Given the description of an element on the screen output the (x, y) to click on. 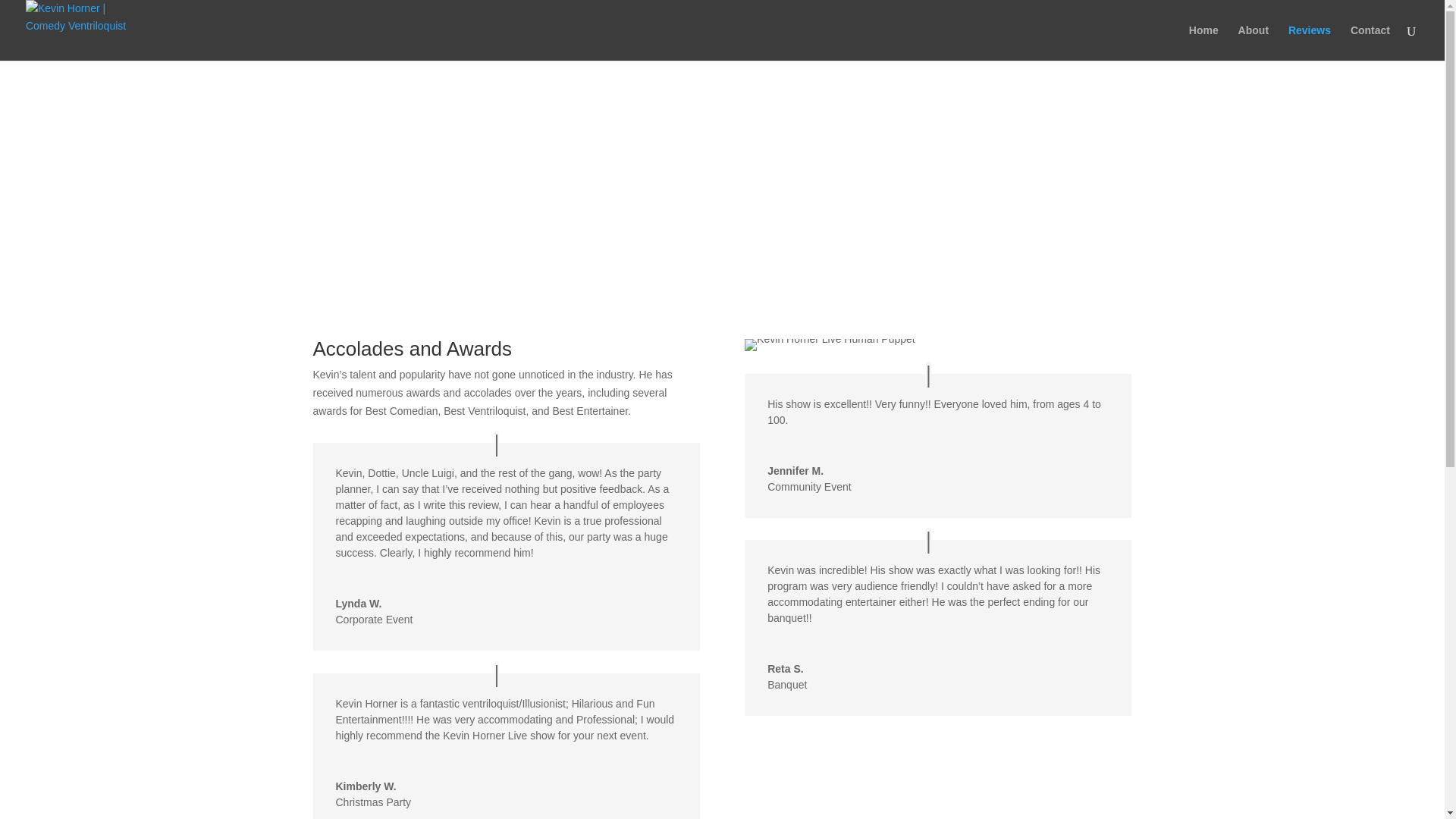
Kevin Horner Live Human Puppet (829, 345)
Contact (1370, 42)
Reviews (1309, 42)
